Given the description of an element on the screen output the (x, y) to click on. 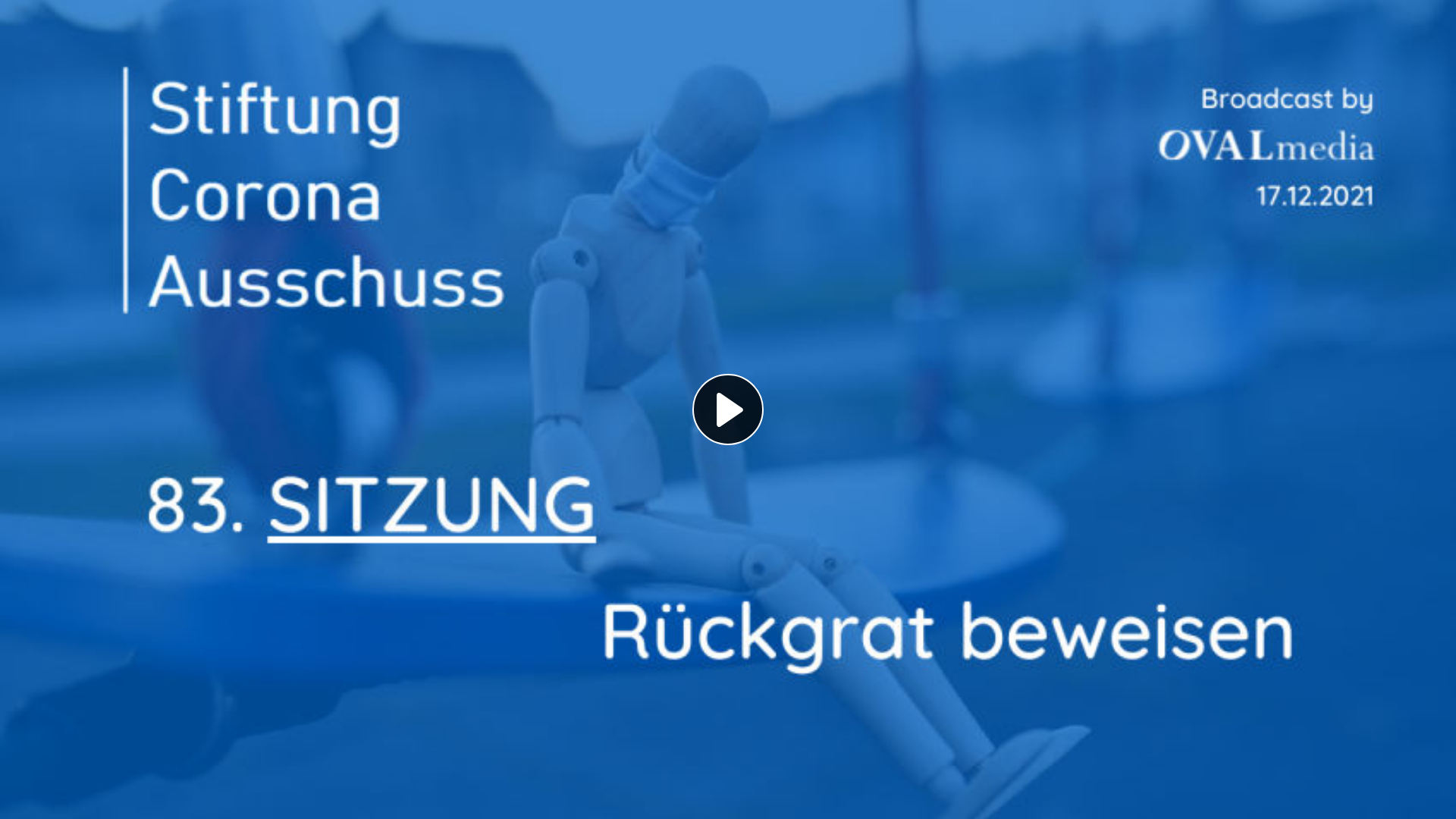
Play Video Element type: text (727, 409)
